Given the description of an element on the screen output the (x, y) to click on. 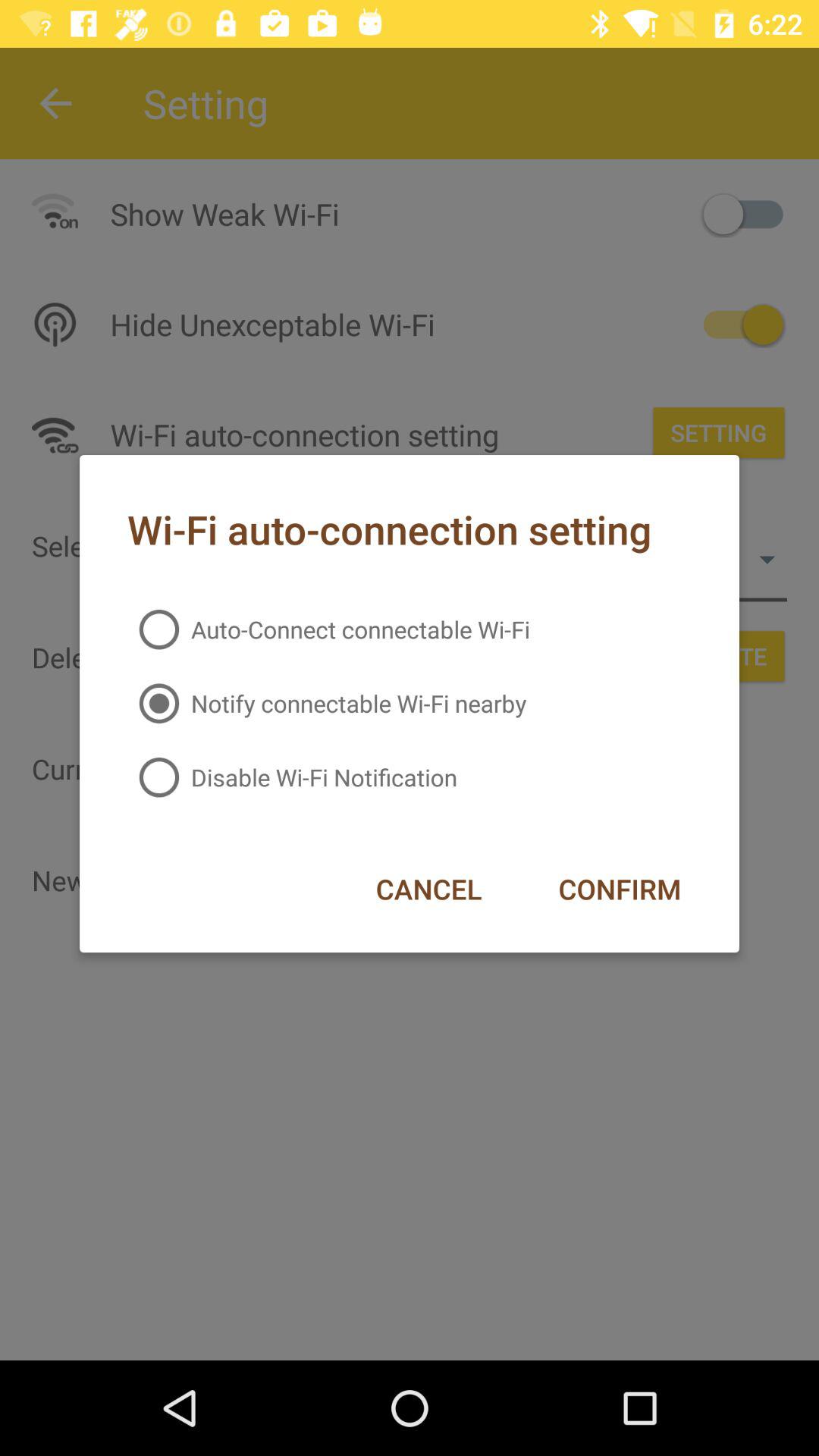
turn off the item below the wi fi auto (328, 629)
